Given the description of an element on the screen output the (x, y) to click on. 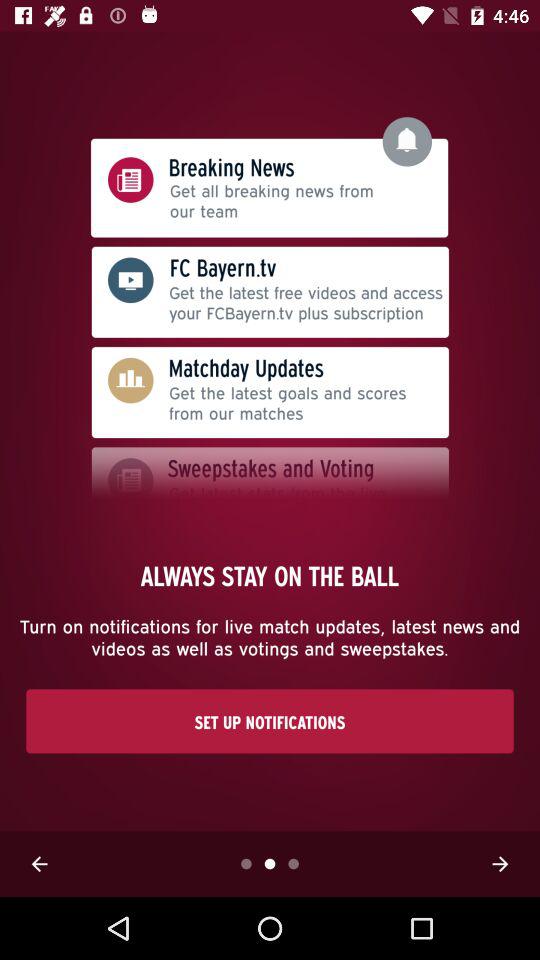
go to previous (39, 864)
